Given the description of an element on the screen output the (x, y) to click on. 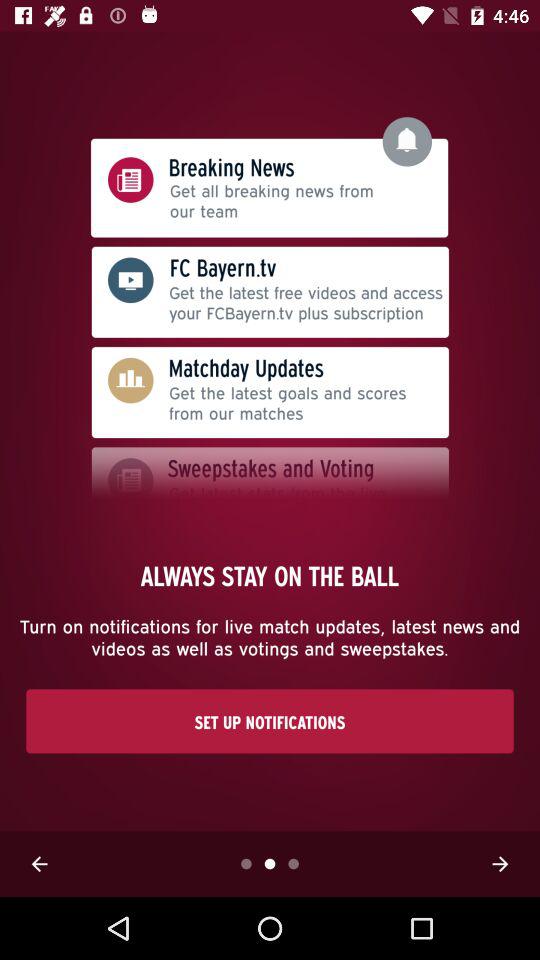
go to previous (39, 864)
